Given the description of an element on the screen output the (x, y) to click on. 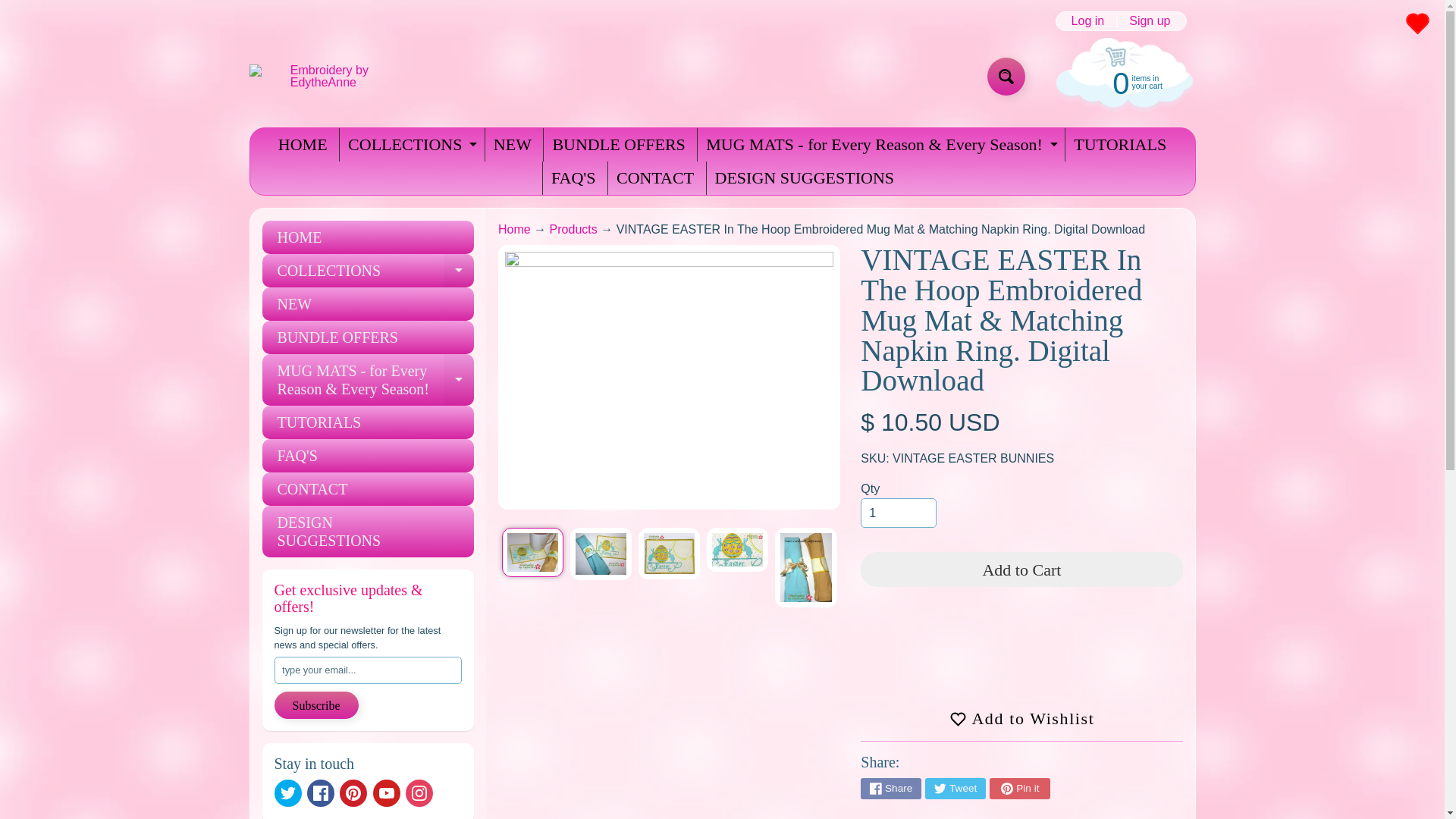
Search (1006, 76)
Pinterest (352, 792)
Wishlist (1416, 23)
Instagram (419, 792)
Share on Facebook (890, 788)
1 (898, 512)
Log in (1088, 21)
Sign up (1149, 21)
Pin on Pinterest (1019, 788)
